Given the description of an element on the screen output the (x, y) to click on. 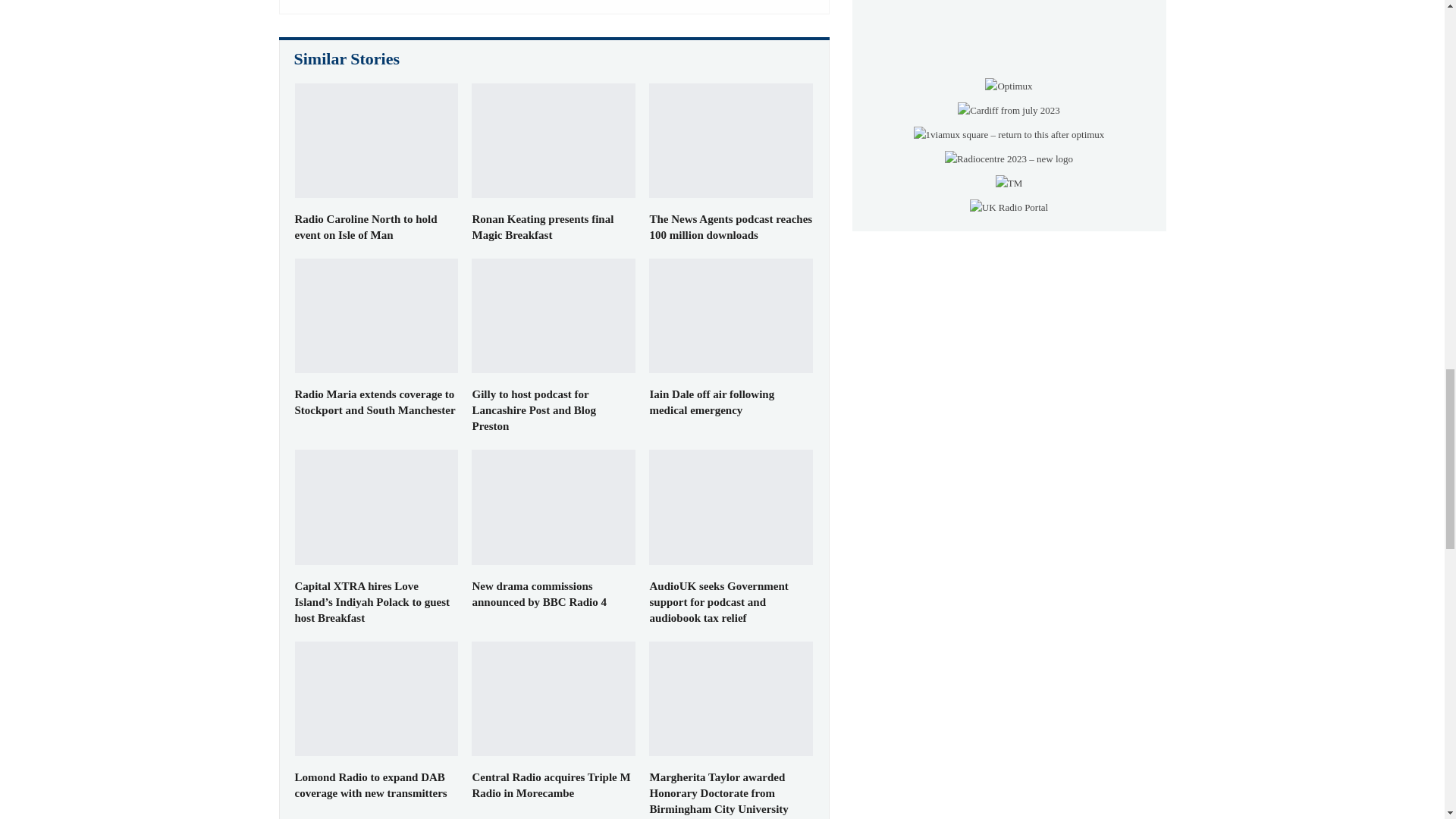
Gilly to host podcast for Lancashire Post and Blog Preston (533, 410)
Gilly to host podcast for Lancashire Post and Blog Preston (552, 315)
Radio Caroline North to hold event on Isle of Man (376, 140)
Iain Dale off air following medical emergency (730, 315)
The News Agents podcast reaches 100 million downloads (730, 226)
Iain Dale off air following medical emergency (711, 402)
The News Agents podcast reaches 100 million downloads (730, 140)
Ronan Keating presents final Magic Breakfast (552, 140)
Ronan Keating presents final Magic Breakfast (541, 226)
Radio Caroline North to hold event on Isle of Man (365, 226)
